Given the description of an element on the screen output the (x, y) to click on. 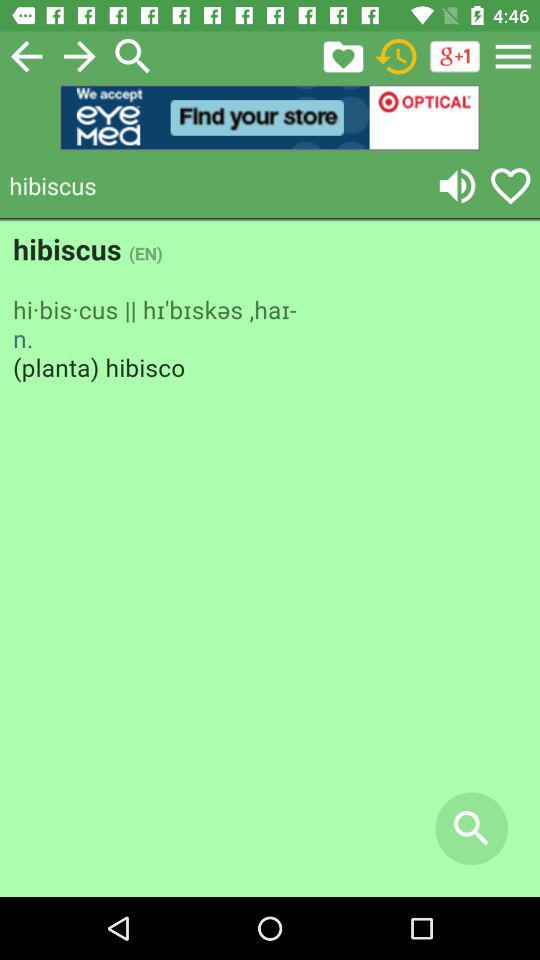
search (133, 56)
